Given the description of an element on the screen output the (x, y) to click on. 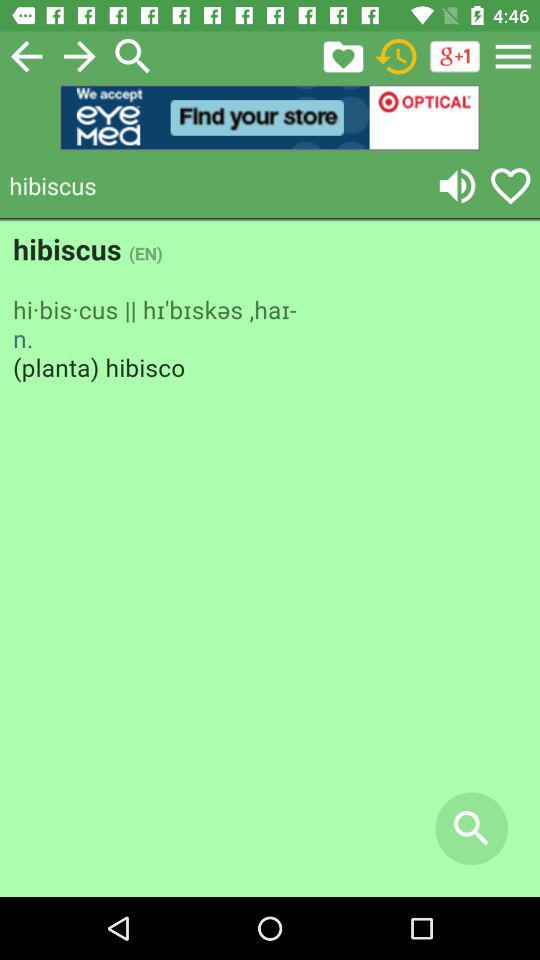
search (133, 56)
